Given the description of an element on the screen output the (x, y) to click on. 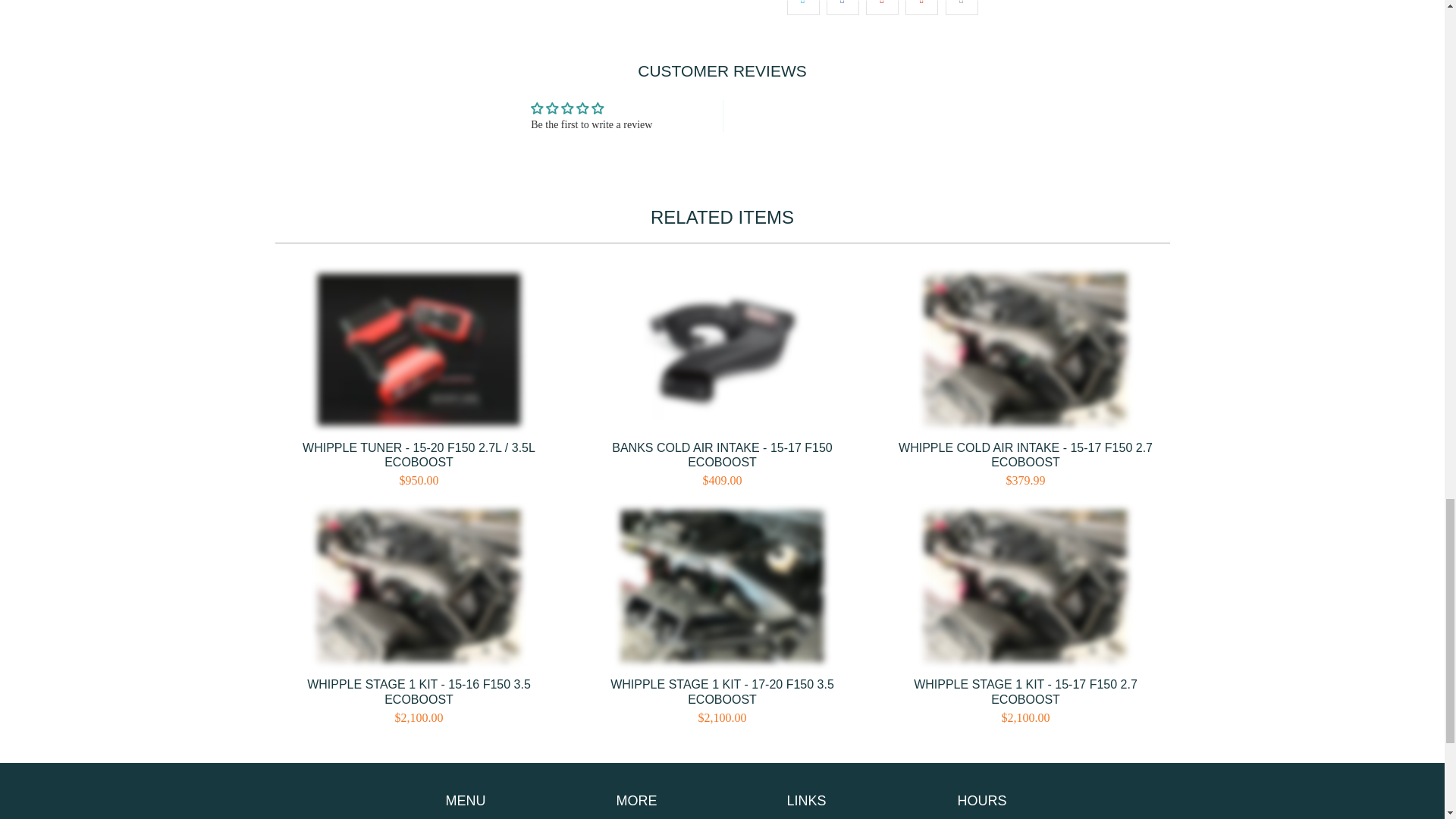
Share this on Facebook (843, 7)
Share this on Twitter (803, 7)
Share this on Pinterest (882, 7)
Email this to a friend (961, 7)
